Given the description of an element on the screen output the (x, y) to click on. 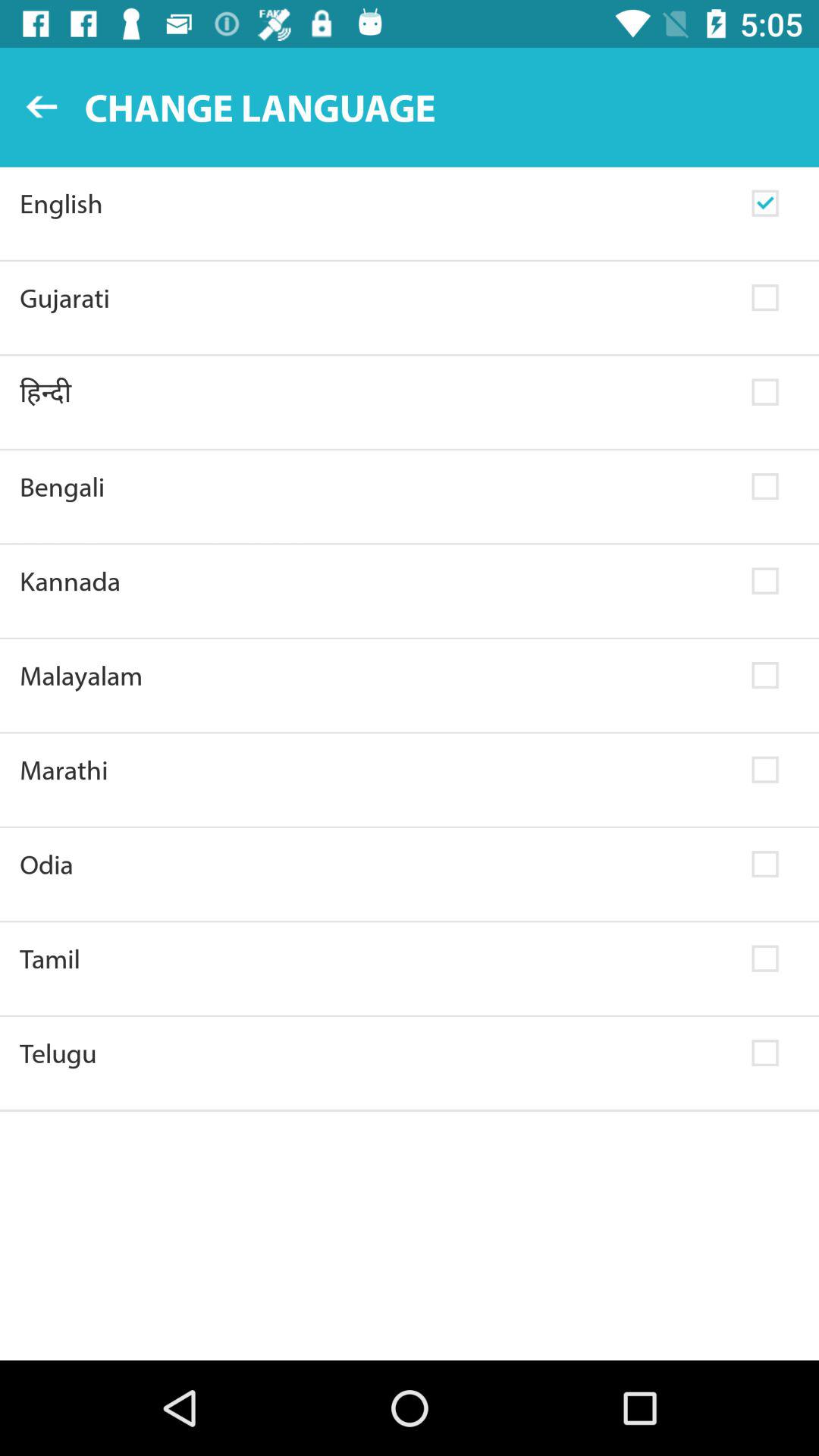
choose odia icon (375, 864)
